Given the description of an element on the screen output the (x, y) to click on. 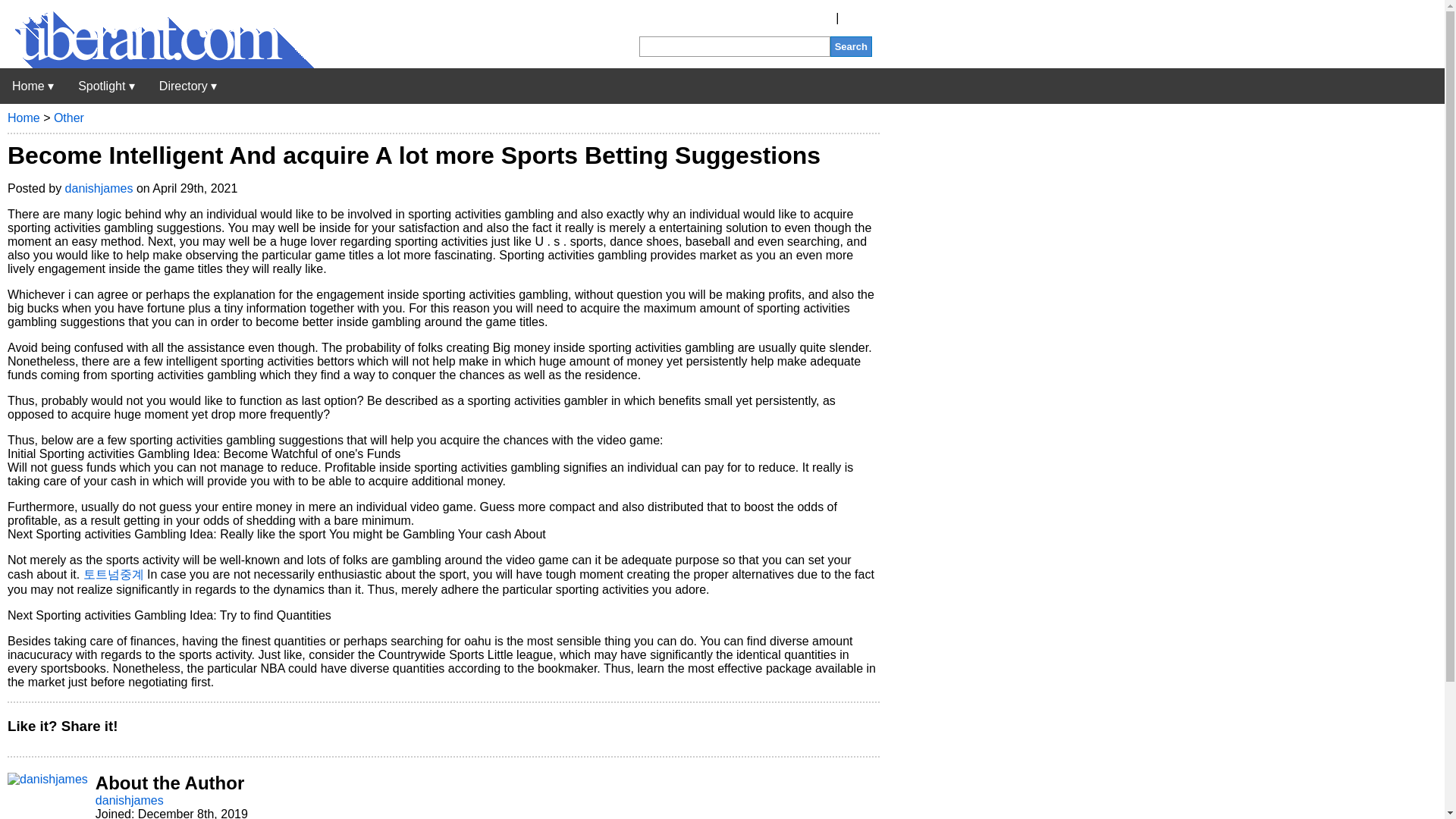
Uberant (157, 63)
Search (850, 46)
Search (850, 46)
Uberant (32, 85)
Login (857, 17)
Register (809, 17)
